Given the description of an element on the screen output the (x, y) to click on. 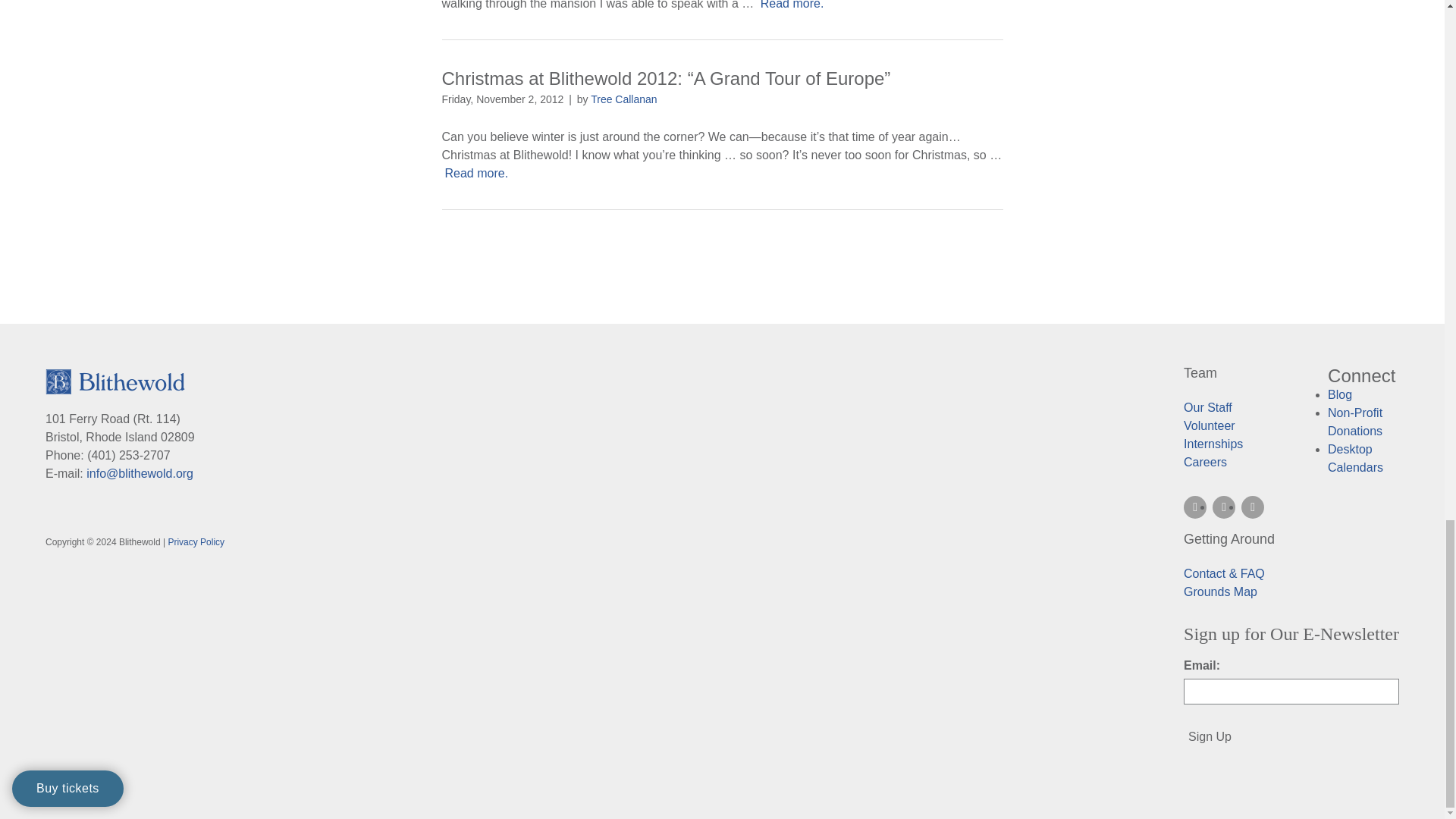
Sign Up (1209, 736)
